Given the description of an element on the screen output the (x, y) to click on. 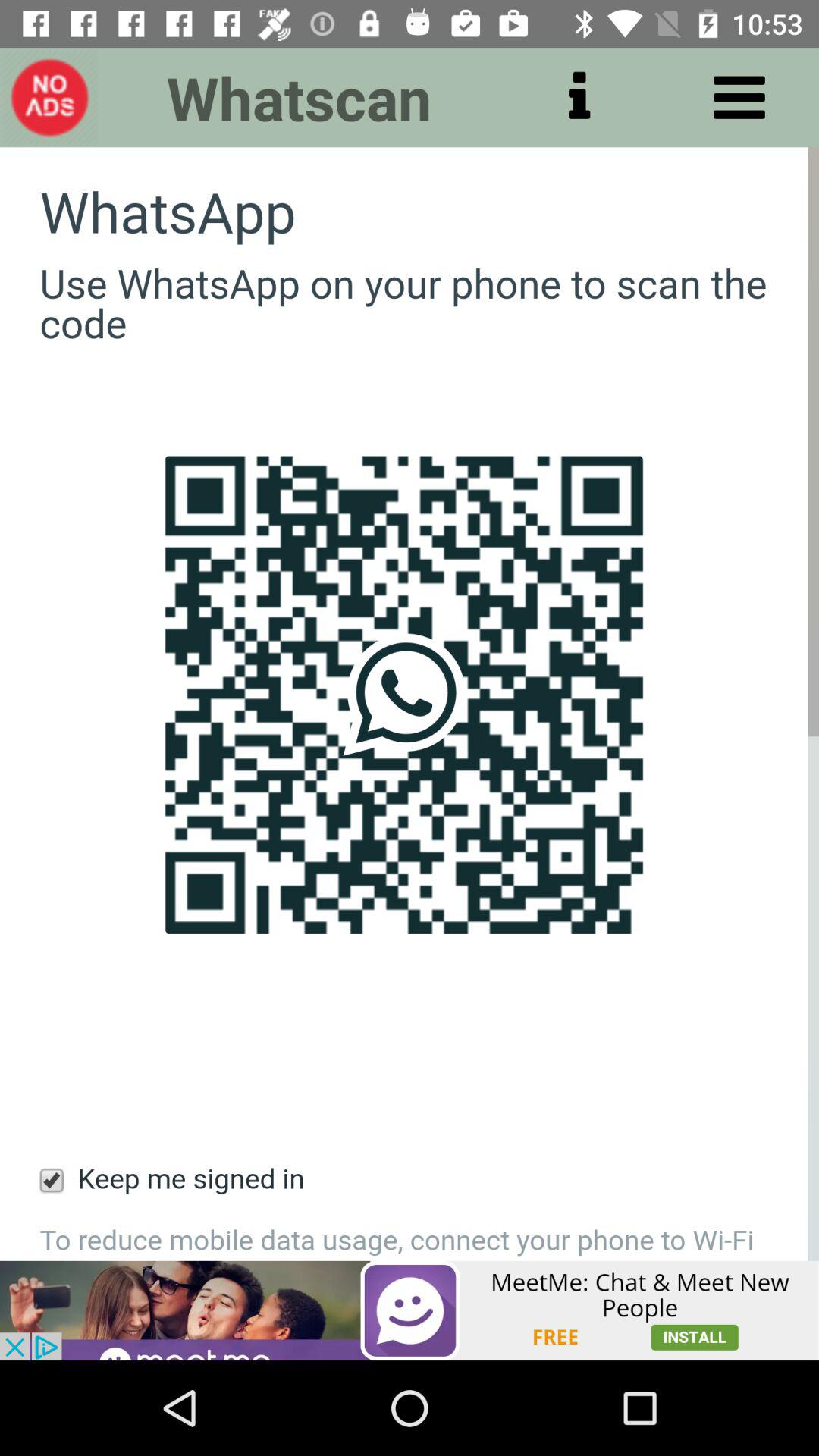
open advertisement (409, 1310)
